Given the description of an element on the screen output the (x, y) to click on. 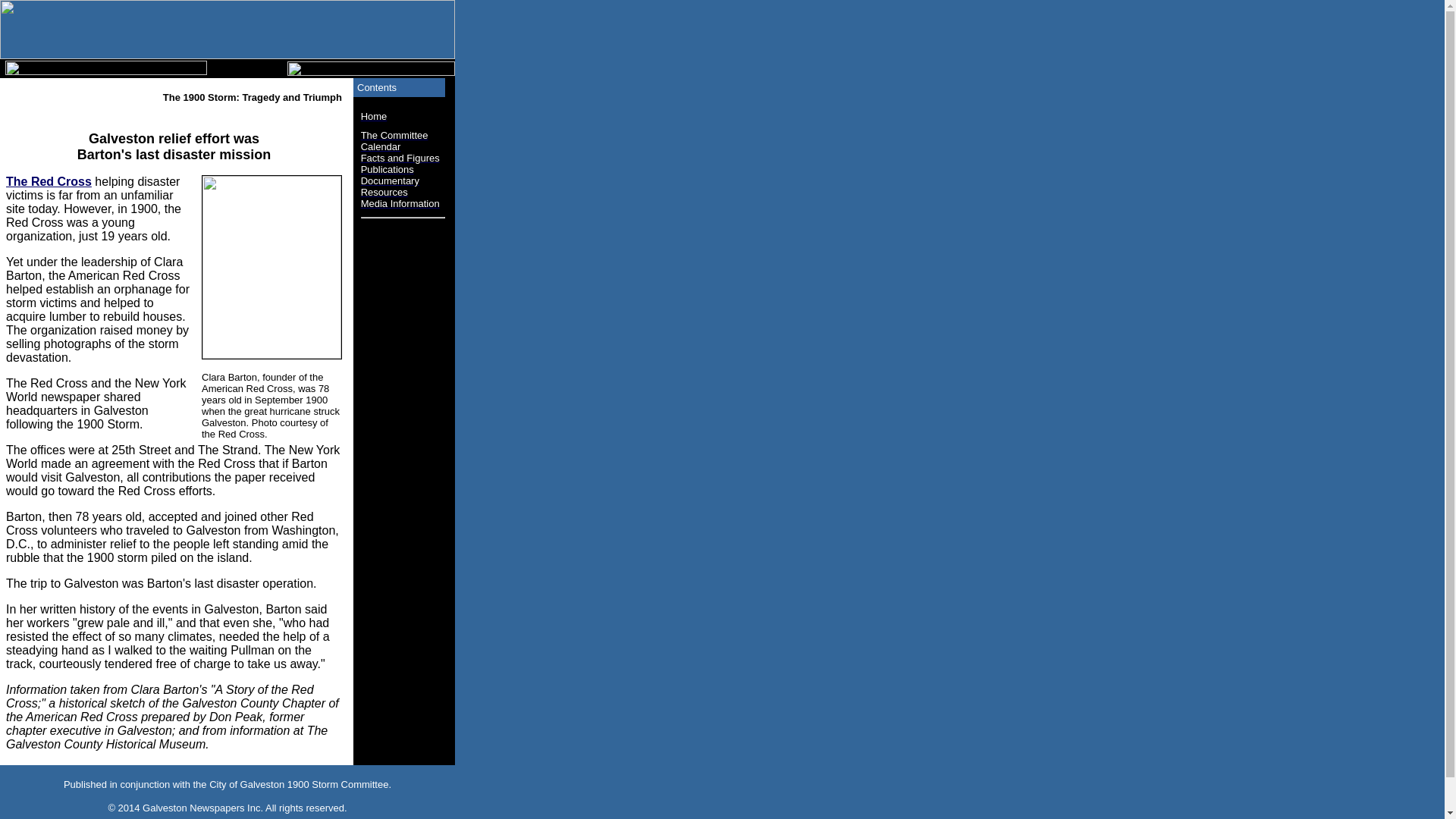
Resources Element type: text (383, 191)
Documentary Element type: text (389, 180)
Calendar Element type: text (380, 146)
Media Information Element type: text (399, 203)
Facts and Figures Element type: text (399, 157)
The Committee Element type: text (394, 135)
The Red Cross Element type: text (48, 181)
Publications Element type: text (387, 169)
Home Element type: text (373, 116)
